Given the description of an element on the screen output the (x, y) to click on. 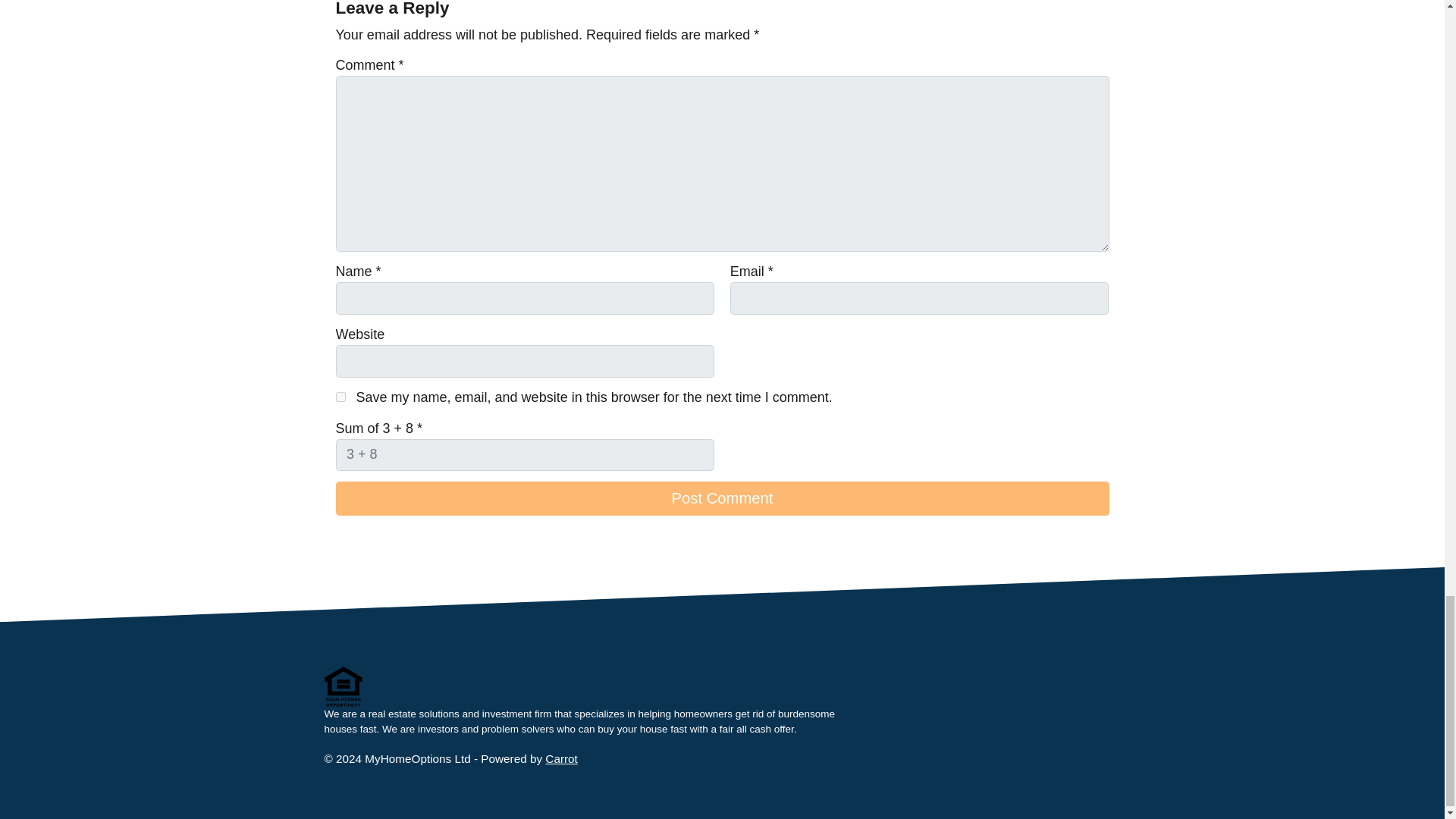
Carrot (561, 758)
Post Comment (721, 498)
Post Comment (721, 498)
yes (339, 397)
